Given the description of an element on the screen output the (x, y) to click on. 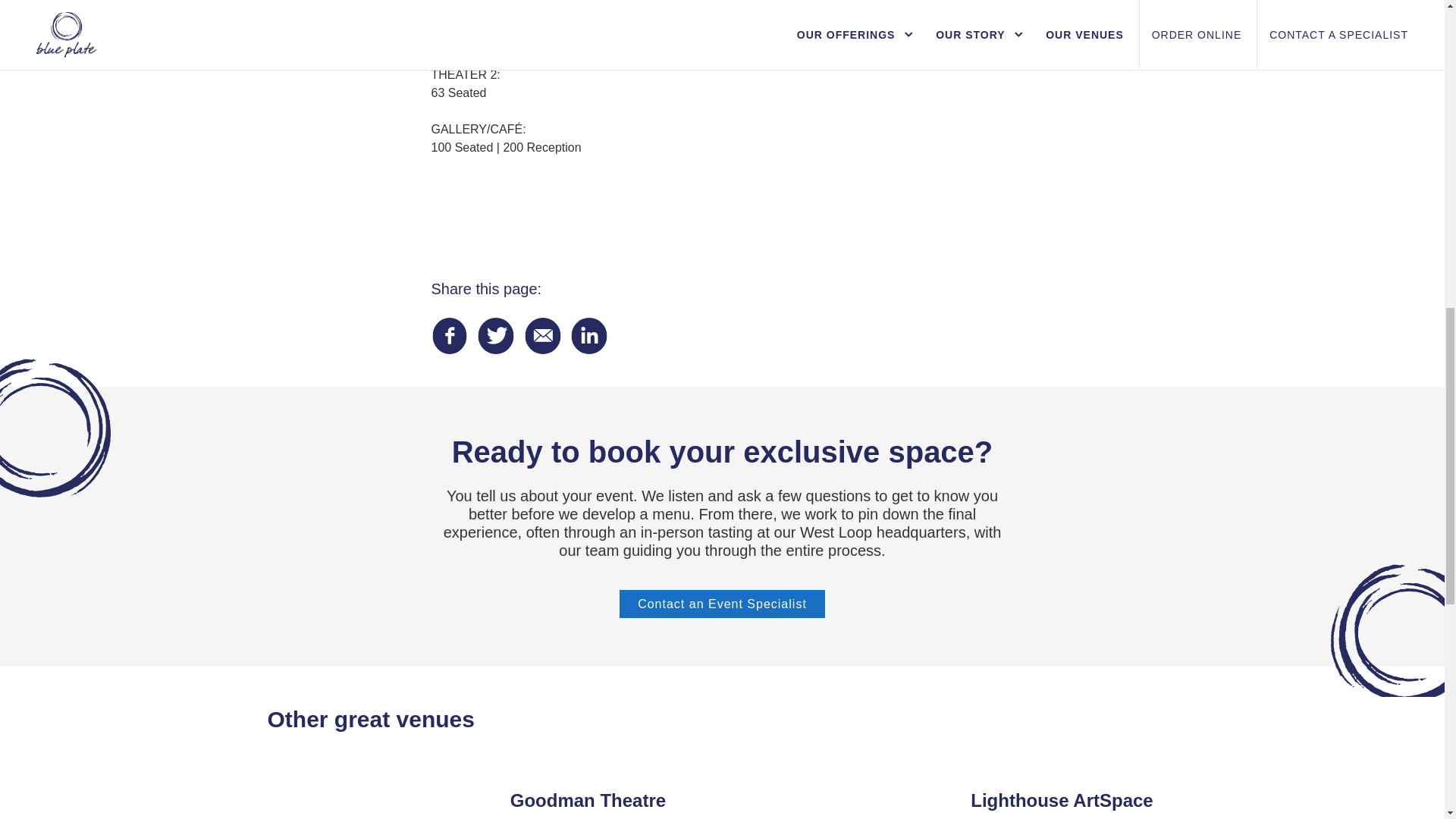
Contact an Event Specialist (722, 603)
